Given the description of an element on the screen output the (x, y) to click on. 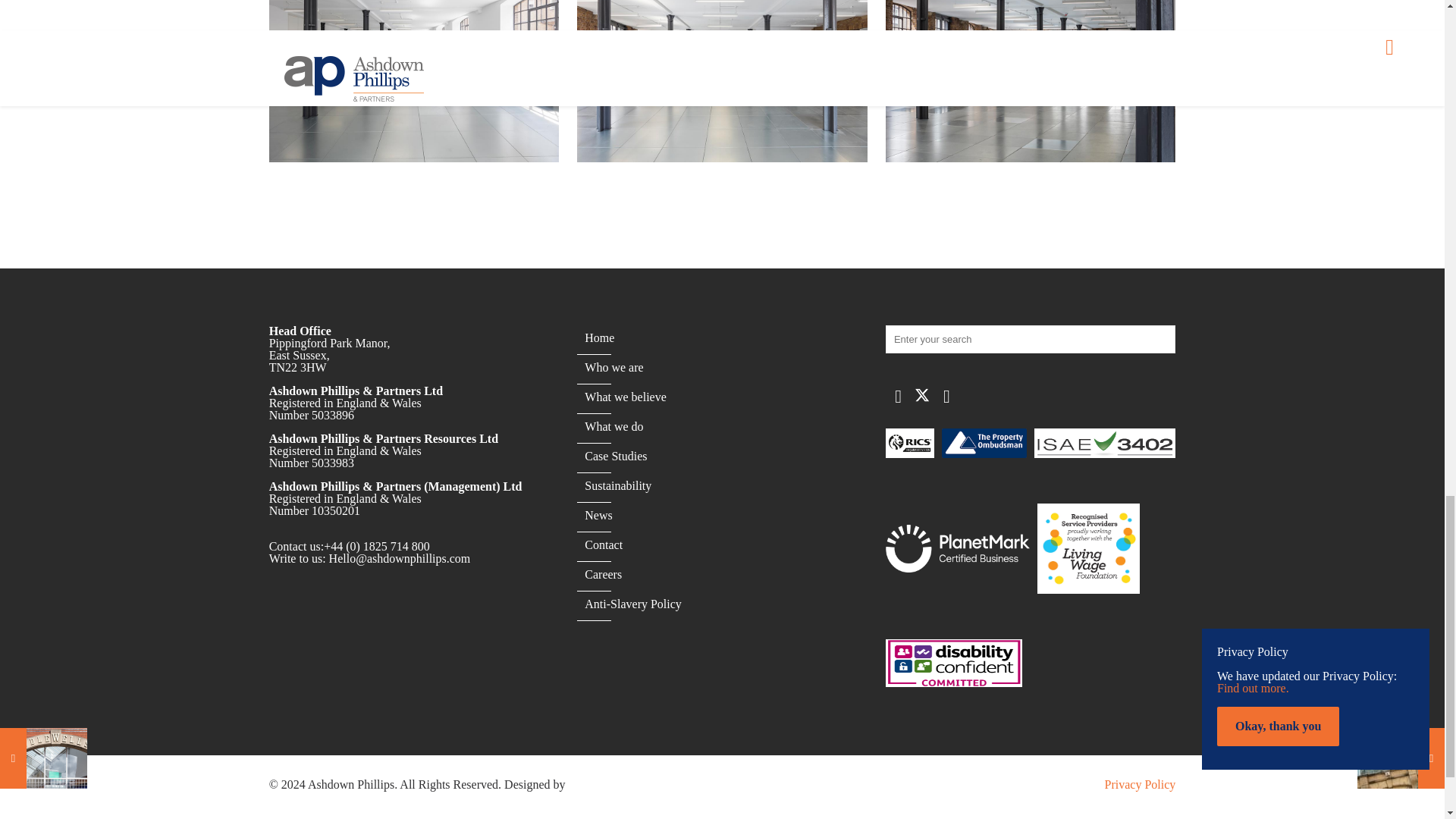
Case Studies (615, 455)
What we do (614, 425)
Sustainability (617, 484)
Privacy Policy (1140, 783)
News (598, 514)
Home (599, 337)
Who we are (614, 366)
Contact (604, 543)
Solid Ground (601, 783)
Anti-Slavery Policy (633, 603)
